Given the description of an element on the screen output the (x, y) to click on. 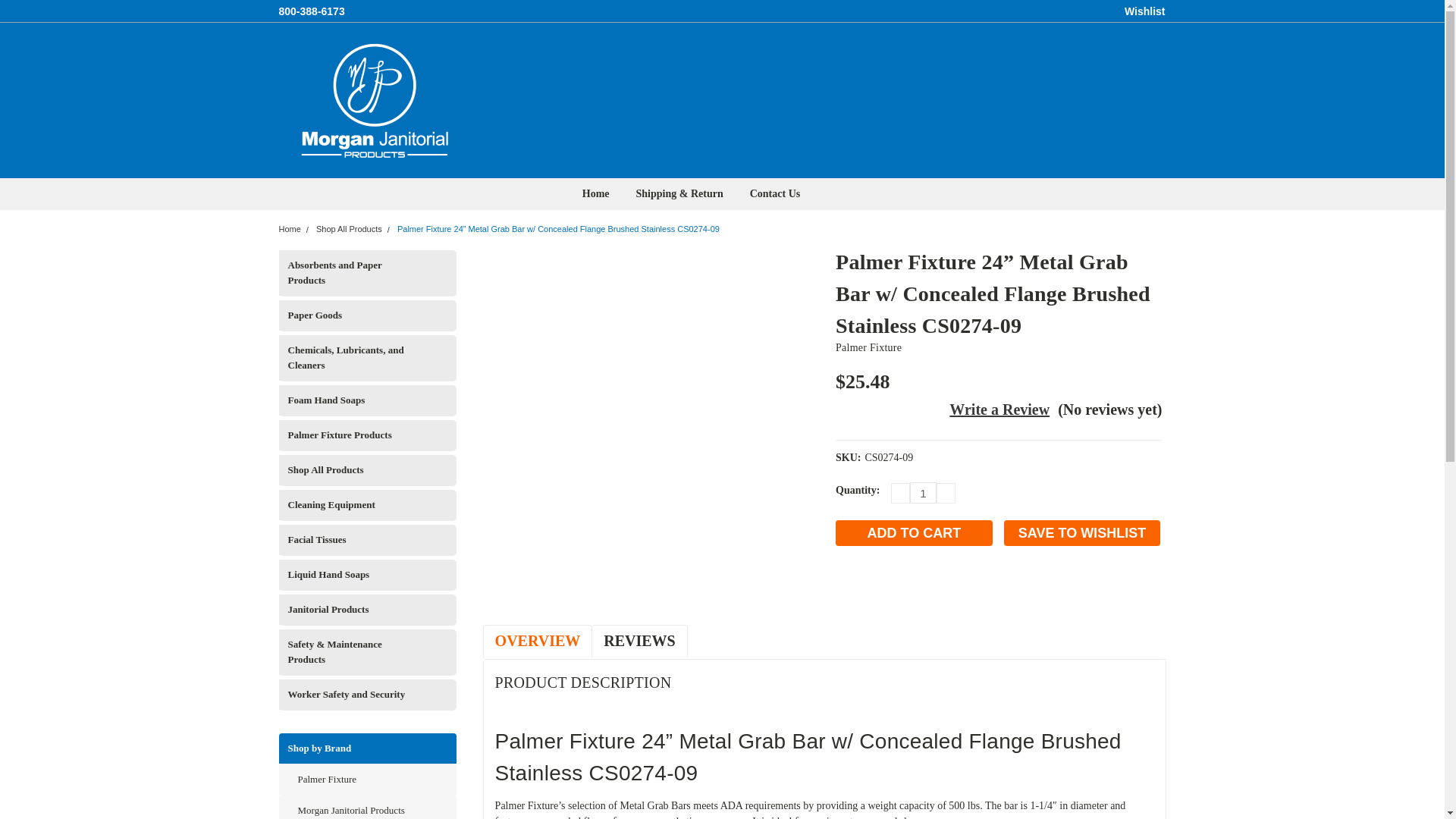
Wishlist (1145, 10)
Facebook (845, 587)
Add to Cart (913, 533)
Morgan Janitorial Products (373, 100)
Twitter (923, 587)
Pinterest (949, 587)
Print (897, 587)
1 (923, 492)
Email (871, 587)
800-388-6173 (312, 10)
